Given the description of an element on the screen output the (x, y) to click on. 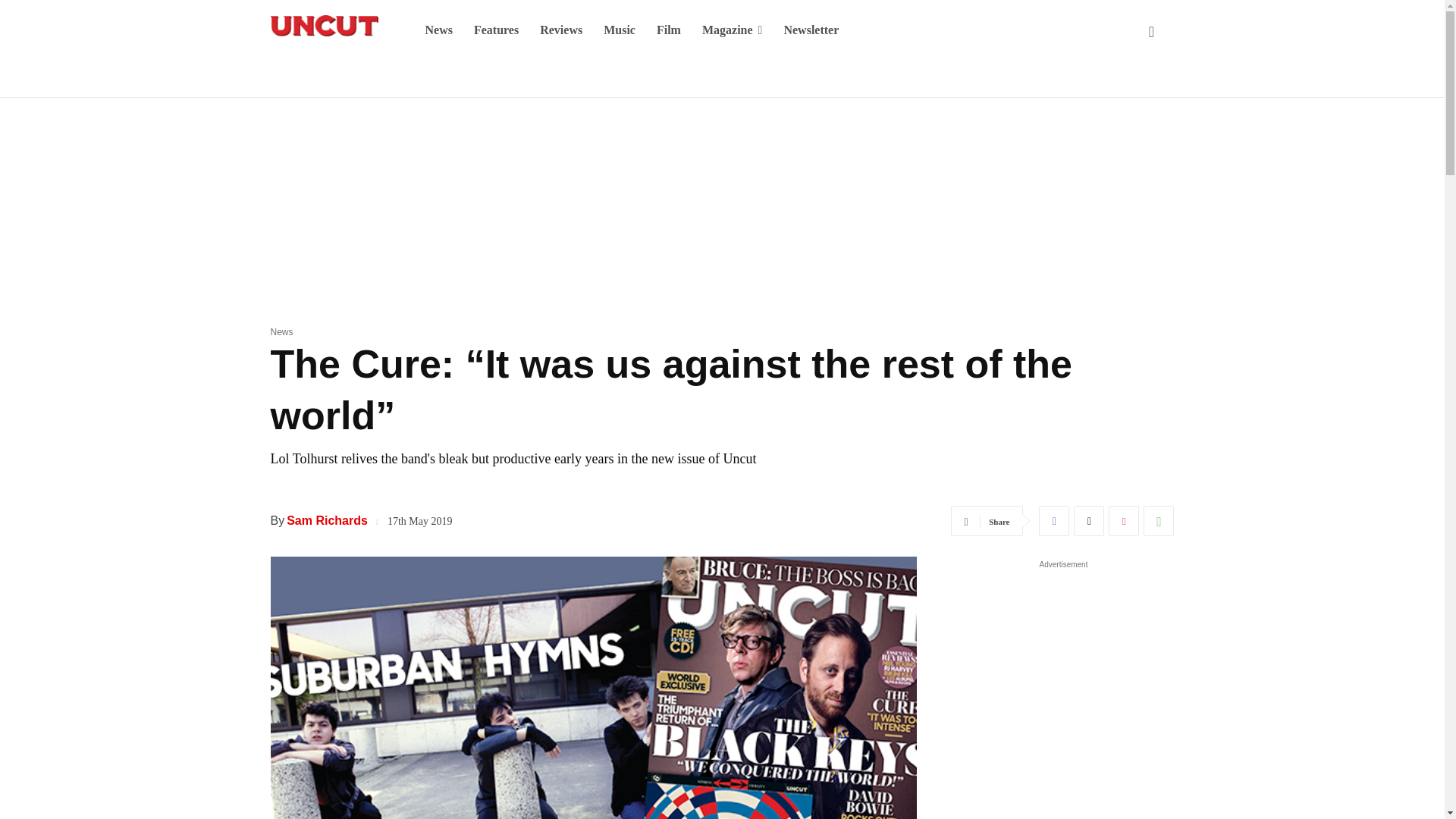
Facebook (1053, 521)
Film (668, 30)
View all posts in News (280, 331)
Features (496, 30)
News (438, 30)
Magazine (732, 30)
Music (619, 30)
Reviews (560, 30)
Newsletter (810, 30)
Twitter (1088, 521)
Pinterest (1123, 521)
Uncut Logo (323, 25)
